Given the description of an element on the screen output the (x, y) to click on. 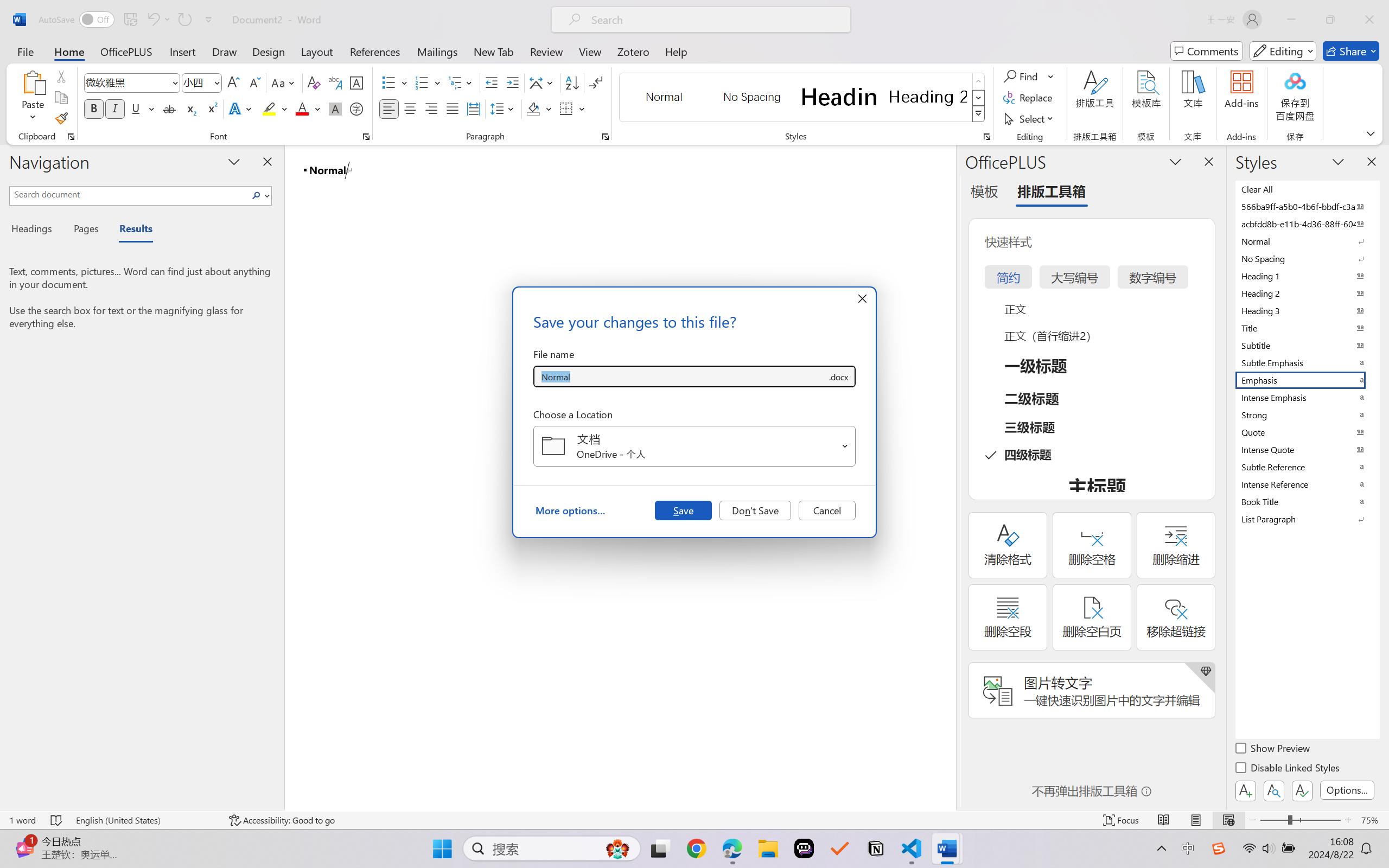
Open (844, 446)
Find (1022, 75)
Borders (571, 108)
Phonetic Guide... (334, 82)
Subtitle (1306, 345)
Google Chrome (696, 848)
Home (69, 51)
Zoom Out (1273, 819)
